Given the description of an element on the screen output the (x, y) to click on. 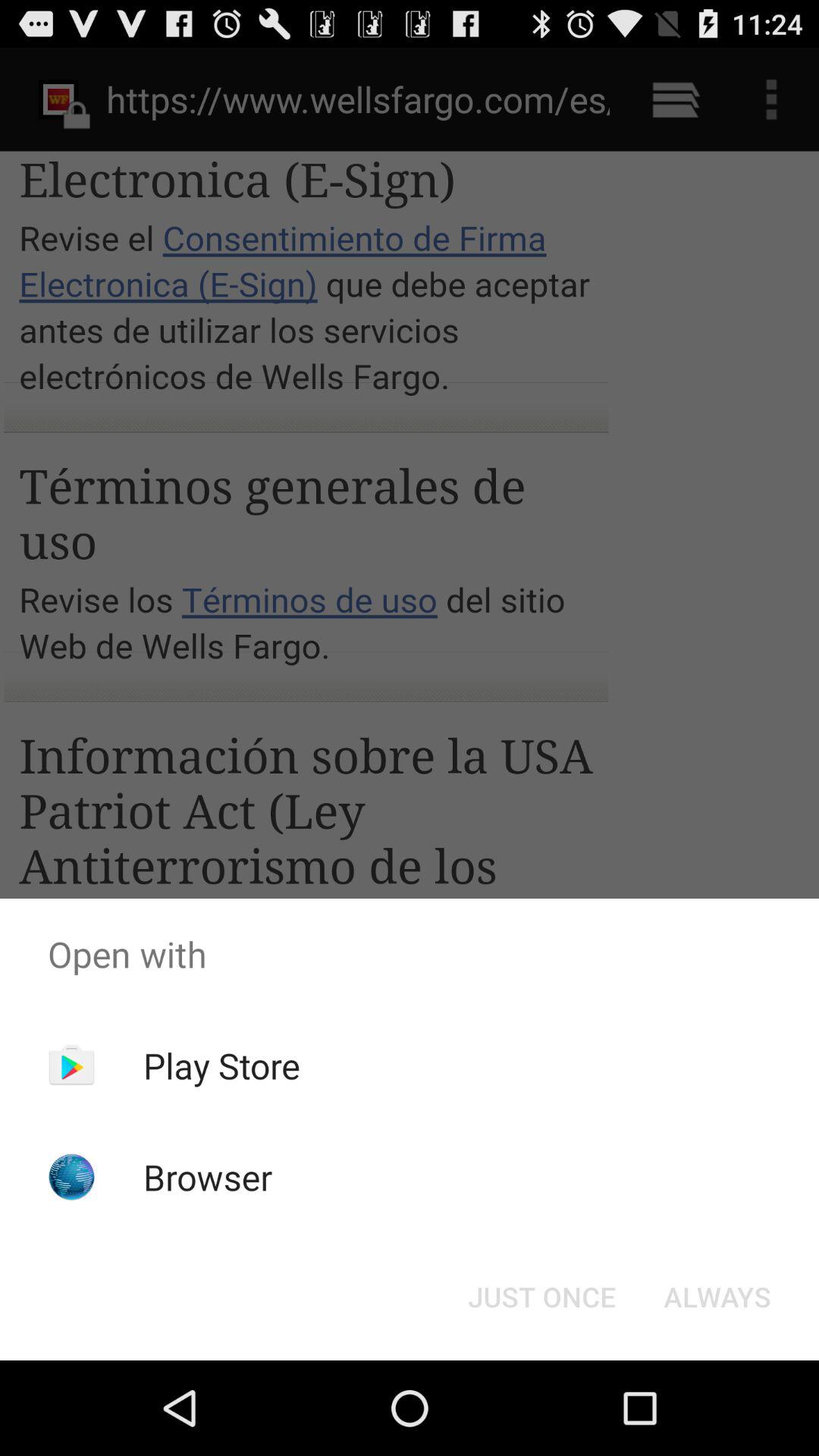
select button to the left of always (541, 1296)
